Given the description of an element on the screen output the (x, y) to click on. 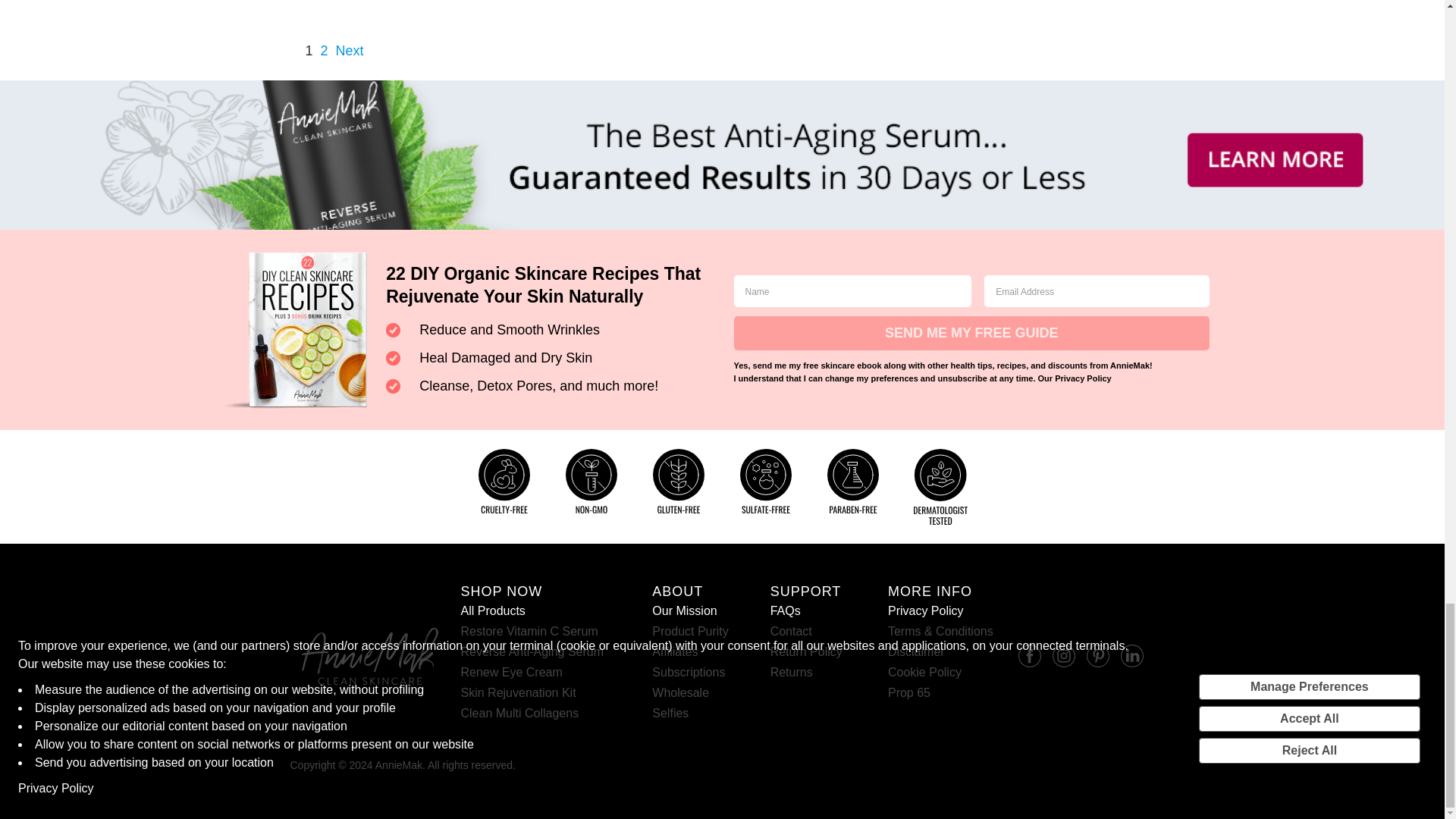
Send Me My Free Guide (971, 333)
